Given the description of an element on the screen output the (x, y) to click on. 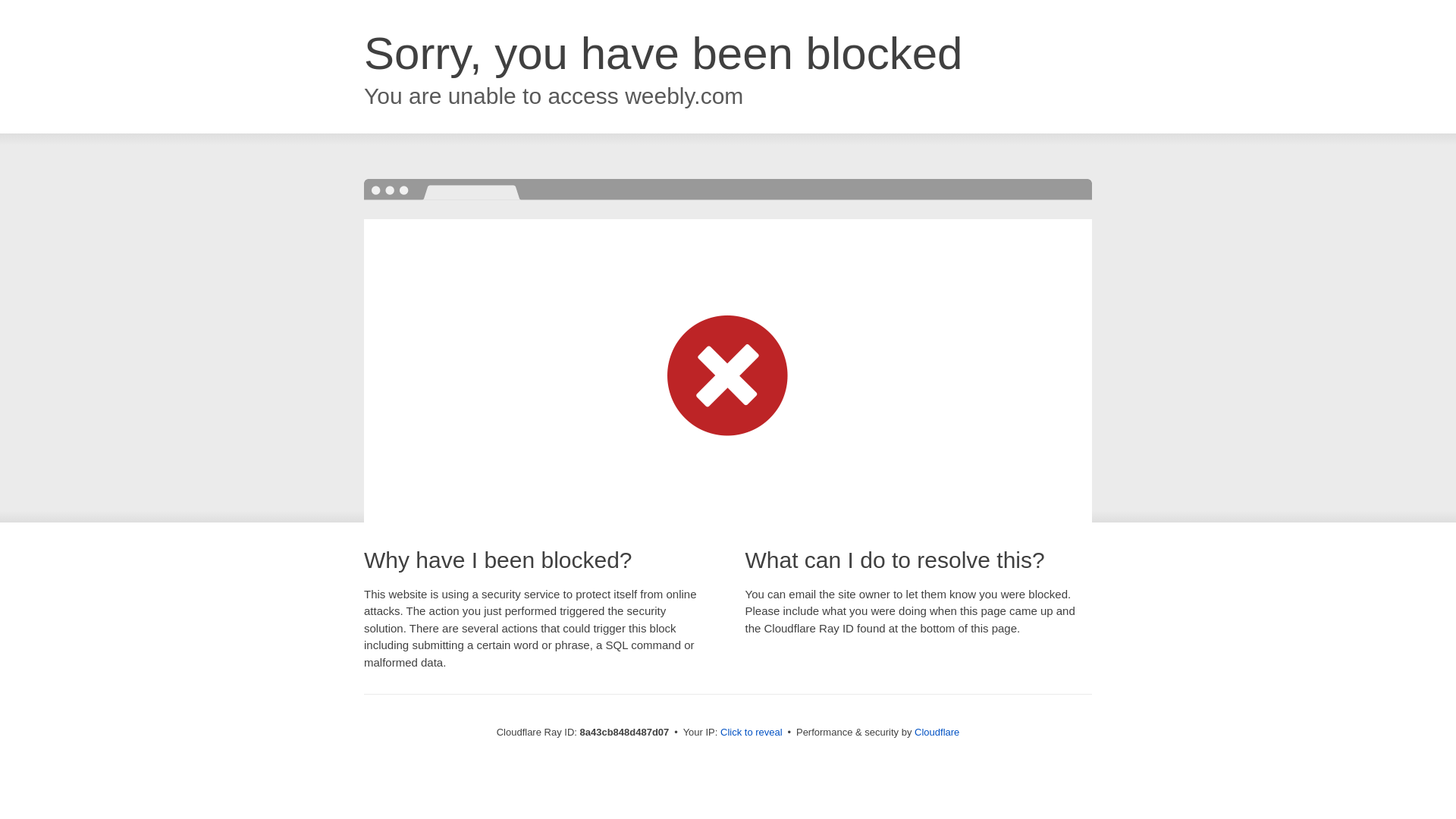
Cloudflare (936, 731)
Click to reveal (751, 732)
